Given the description of an element on the screen output the (x, y) to click on. 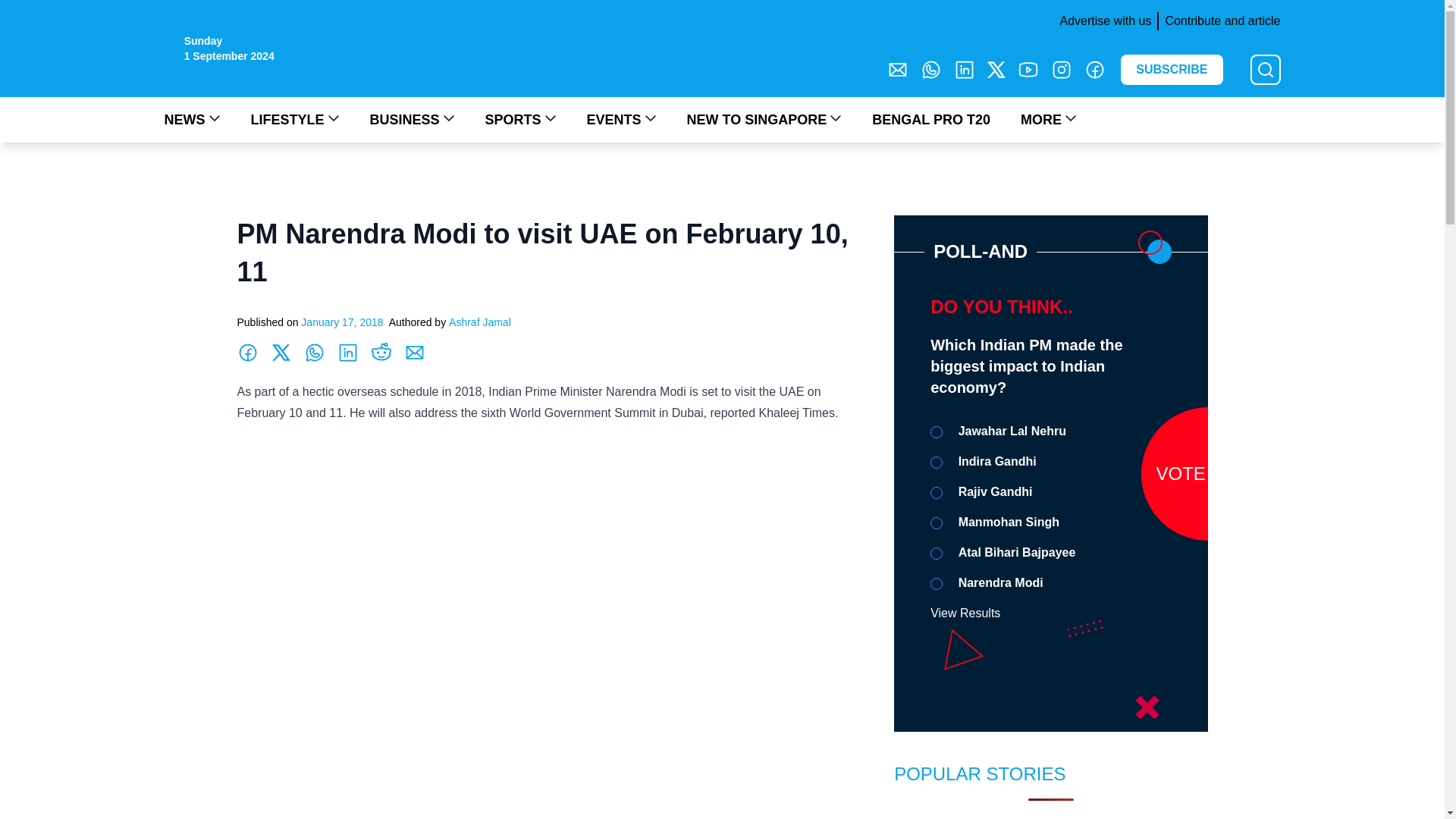
NEWS (191, 119)
   Vote    (1207, 472)
54 (936, 583)
View Results Of This Poll (965, 612)
Contribute and article (1218, 21)
49 (936, 431)
50 (936, 462)
51 (936, 492)
SPORTS (520, 119)
Search (19, 9)
